Given the description of an element on the screen output the (x, y) to click on. 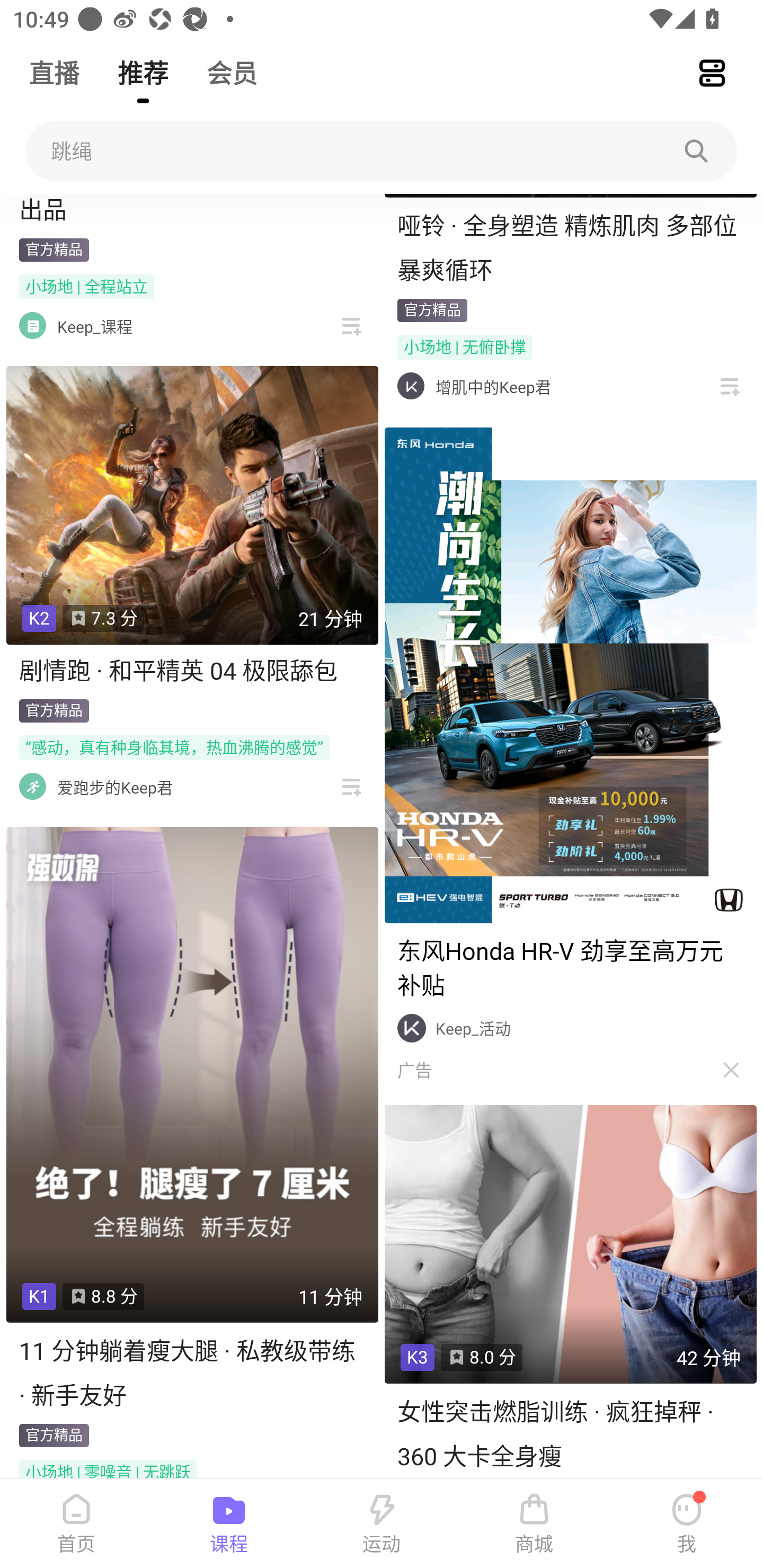
直播 (53, 64)
推荐 (142, 64)
会员 (231, 64)
跳绳 (381, 150)
八段锦要点详解 · 完整版 · Keep 出品 官方精品 小场地 | 全程站立 Keep_课程 (192, 270)
哑铃 · 全身塑造 精炼肌肉 多部位暴爽循环 官方精品 小场地 | 无俯卧撑 增肌中的Keep君 (570, 300)
Keep_课程 (94, 326)
增肌中的Keep君 (492, 387)
Keep_活动 广告 (570, 756)
爱跑步的Keep君 (114, 787)
K3 8.0 分 42 分钟 女性突击燃脂训练 · 疯狂掉秤 · 360 大卡全身瘦 (570, 1291)
首页 (76, 1523)
课程 (228, 1523)
运动 (381, 1523)
商城 (533, 1523)
我 (686, 1523)
